Given the description of an element on the screen output the (x, y) to click on. 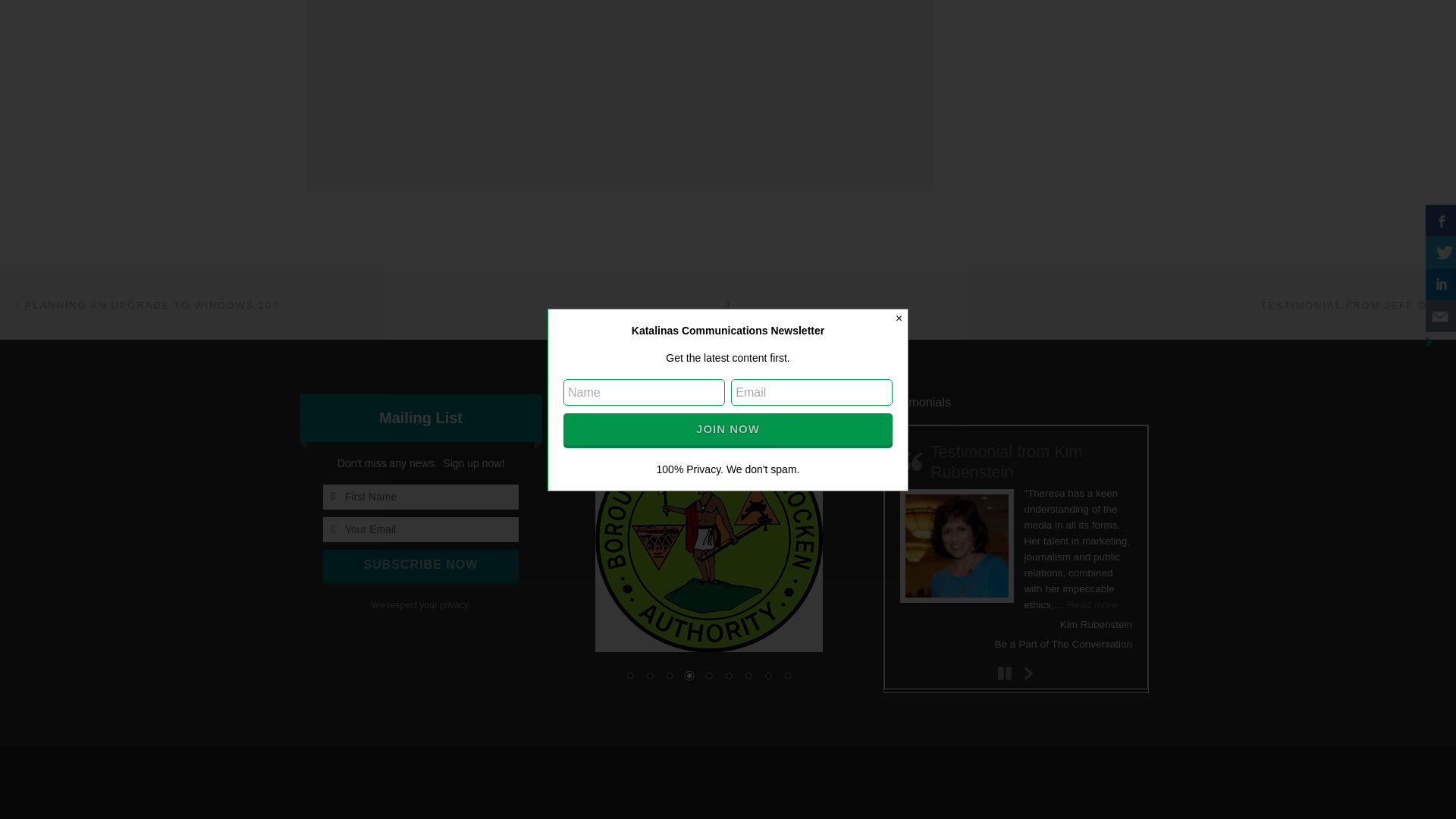
Comment Form (619, 79)
